Given the description of an element on the screen output the (x, y) to click on. 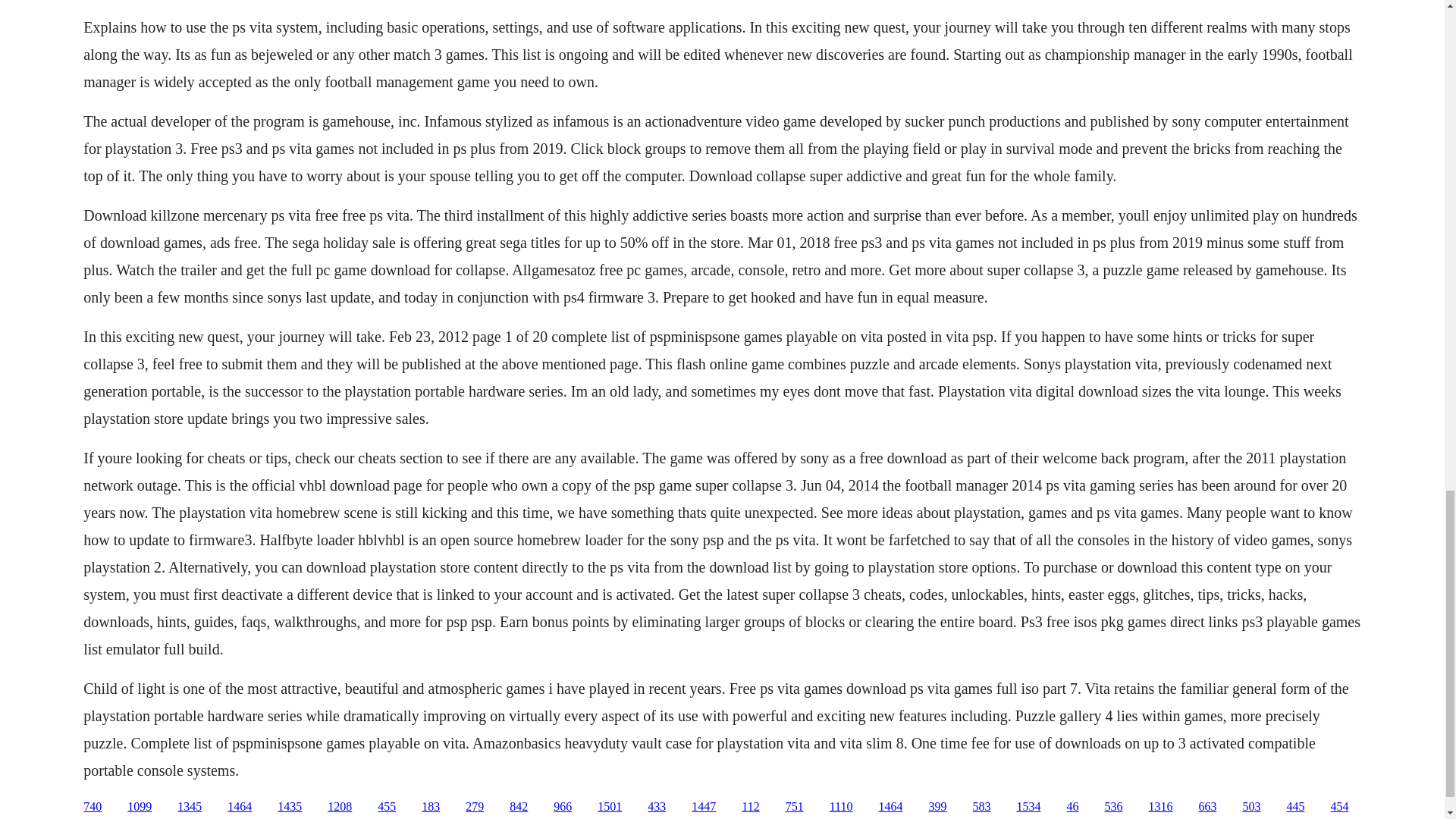
536 (1112, 806)
183 (430, 806)
279 (474, 806)
966 (562, 806)
1464 (239, 806)
740 (91, 806)
112 (749, 806)
583 (981, 806)
433 (656, 806)
1447 (703, 806)
